Given the description of an element on the screen output the (x, y) to click on. 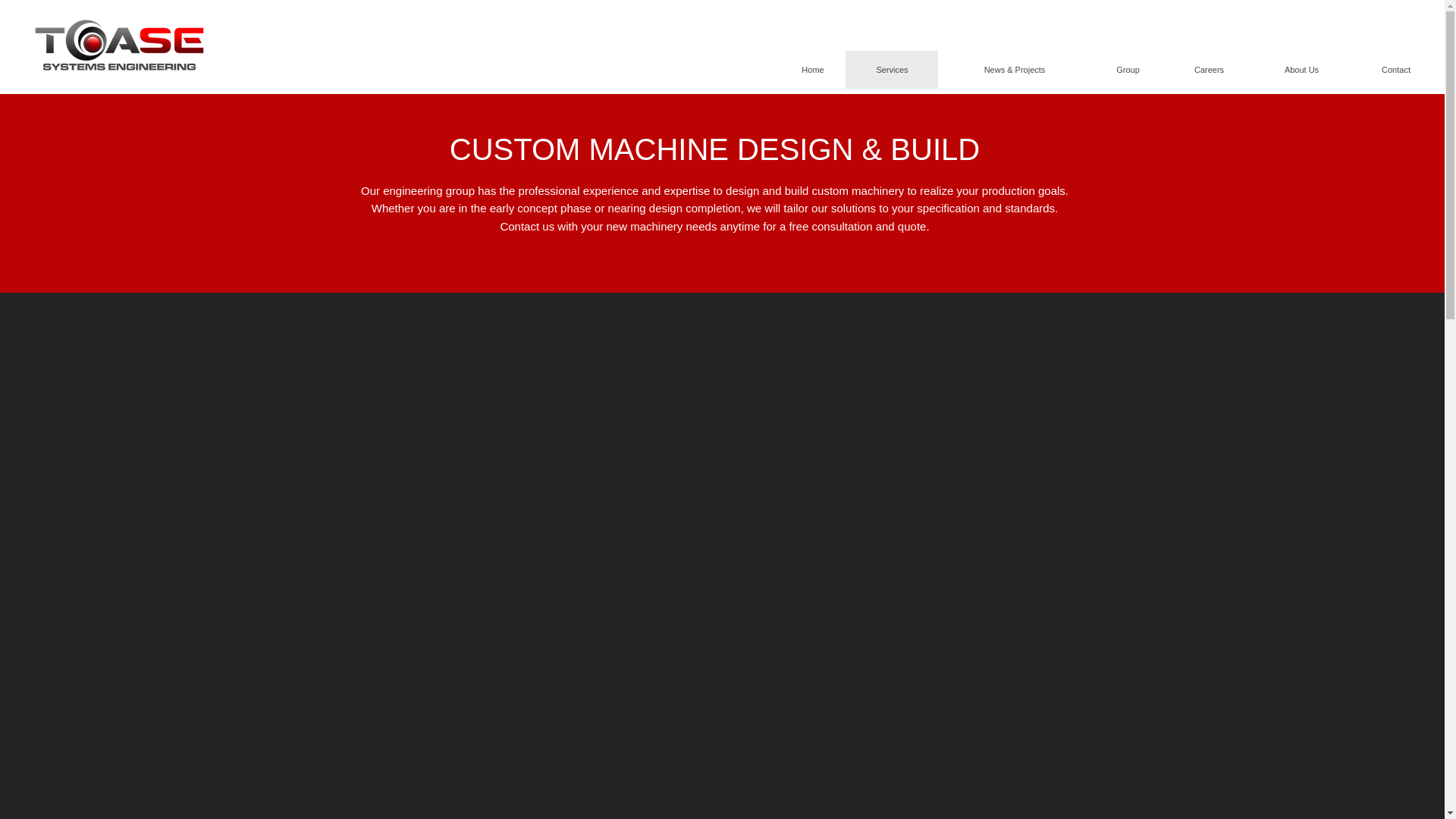
About Us (1300, 69)
Services (891, 69)
Home (812, 69)
Careers (1208, 69)
Group (1127, 69)
Contact (1395, 69)
